Given the description of an element on the screen output the (x, y) to click on. 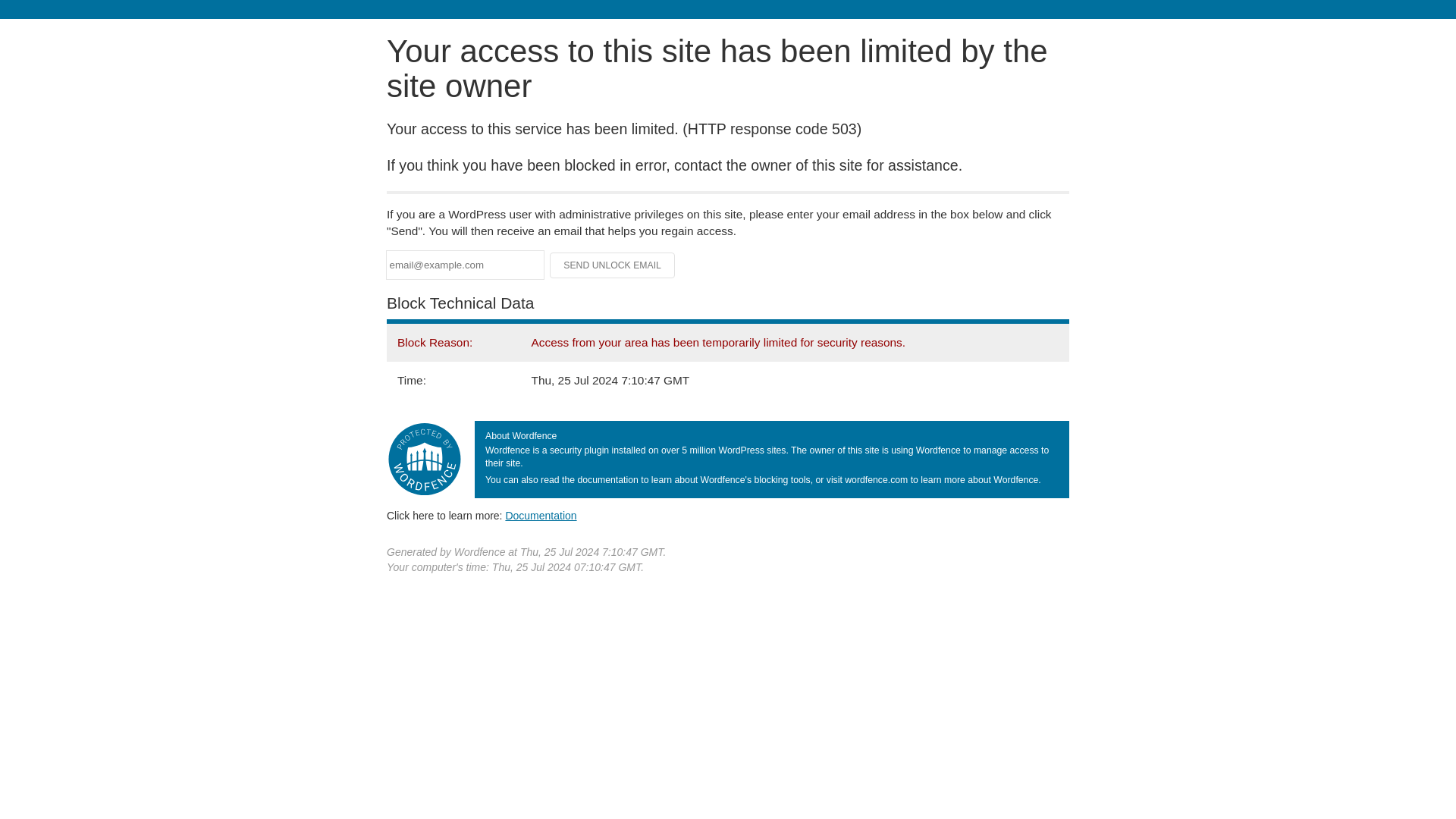
Documentation (540, 515)
Send Unlock Email (612, 265)
Send Unlock Email (612, 265)
